Given the description of an element on the screen output the (x, y) to click on. 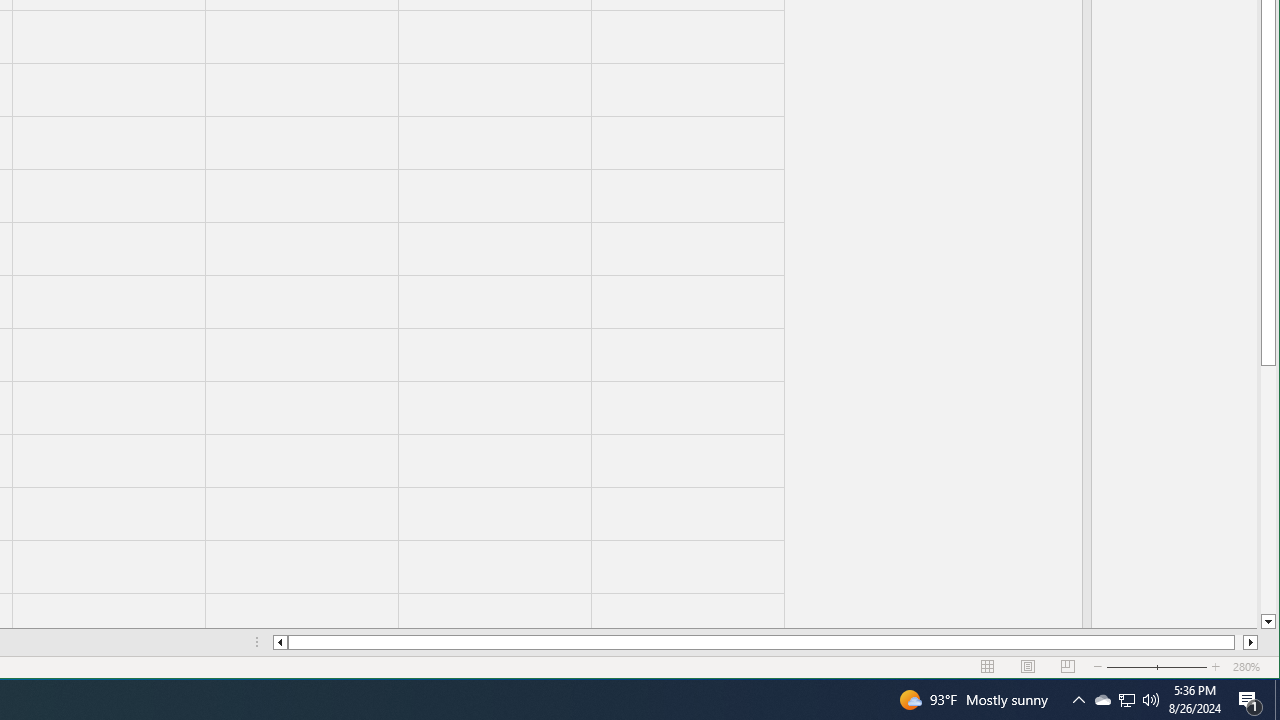
Action Center, 1 new notification (1250, 699)
Show desktop (1126, 699)
User Promoted Notification Area (1277, 699)
Q2790: 100% (1102, 699)
Notification Chevron (1126, 699)
